Given the description of an element on the screen output the (x, y) to click on. 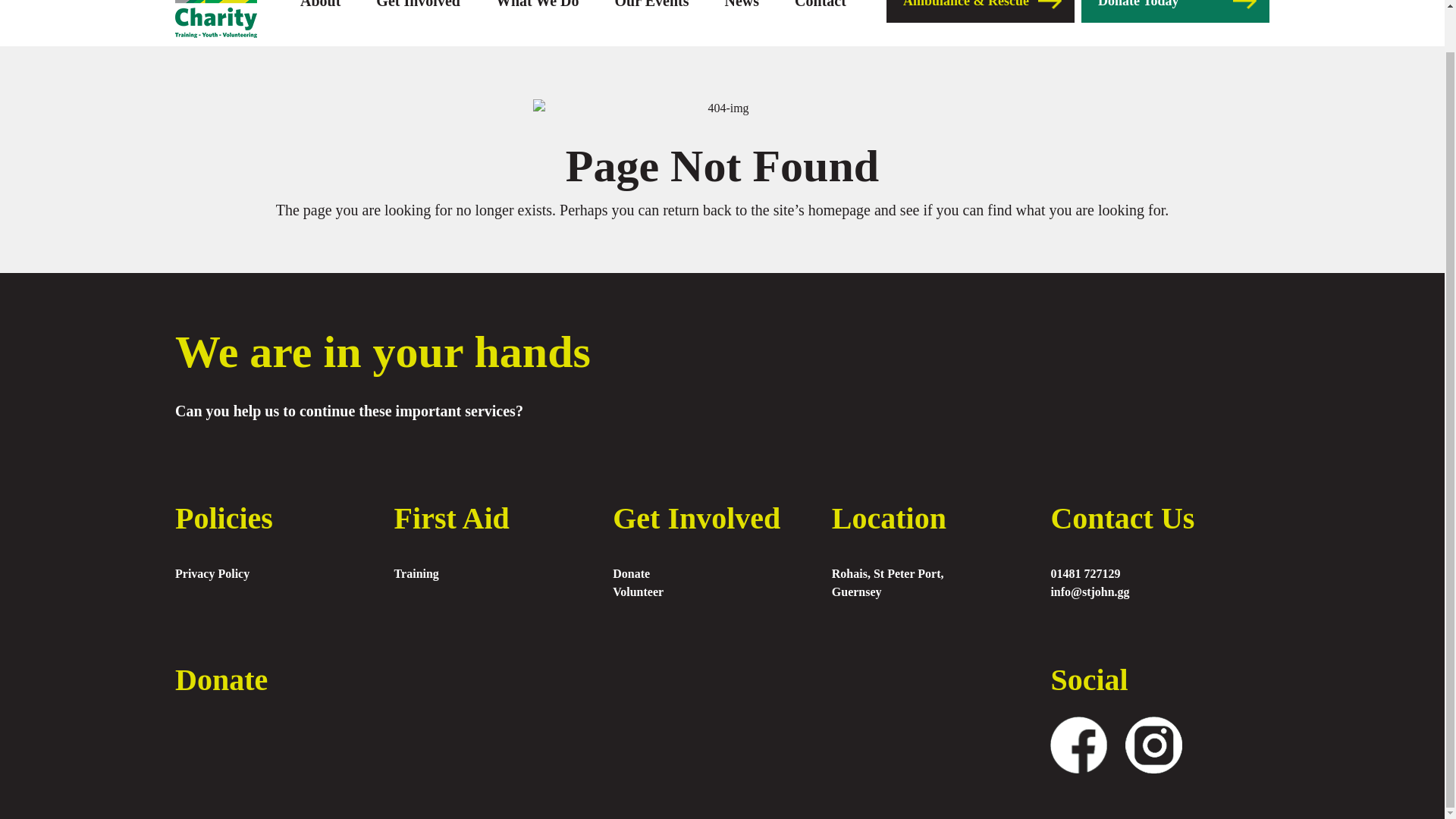
Volunteer (721, 592)
Contact (819, 5)
Donate (220, 679)
Training (503, 574)
Donate (721, 574)
News (742, 5)
About (319, 5)
Donate Today (1175, 11)
Our Events (651, 5)
01481 727129 (1159, 574)
What We Do (537, 5)
Get Involved (417, 5)
Privacy Policy (284, 574)
